Given the description of an element on the screen output the (x, y) to click on. 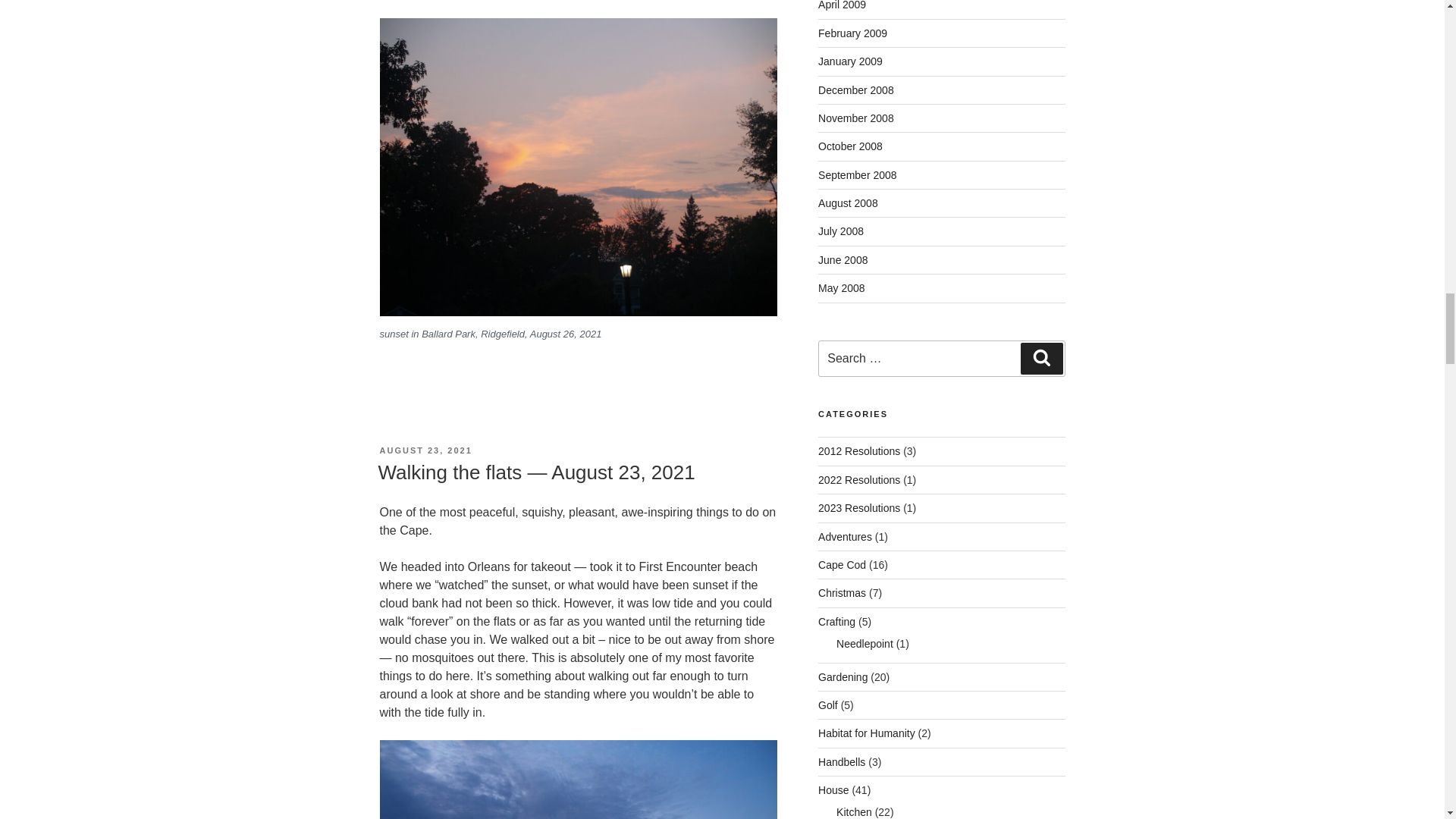
AUGUST 23, 2021 (424, 450)
